Given the description of an element on the screen output the (x, y) to click on. 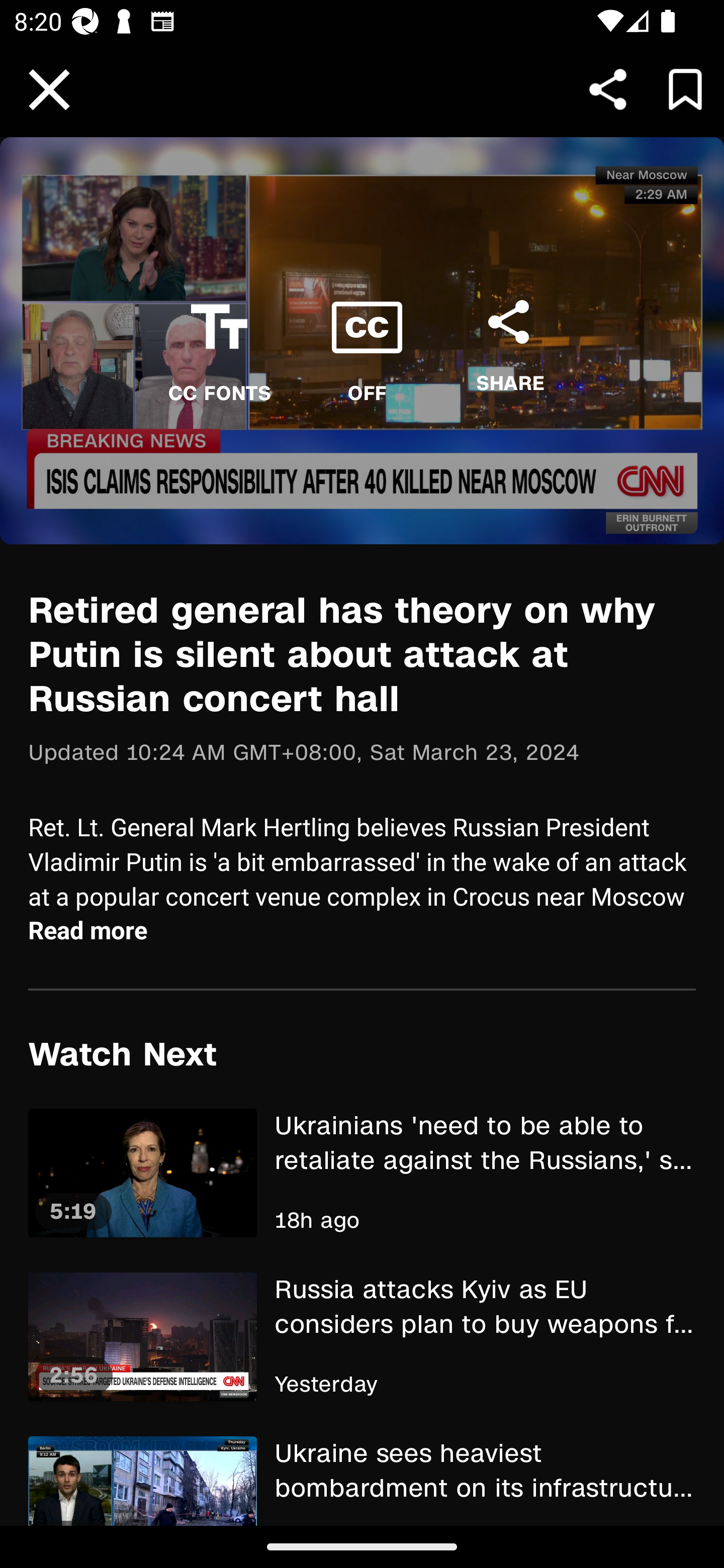
Close (48, 89)
Share (607, 89)
Bookmark (685, 89)
Closed Captions Fonts CC FONTS (219, 340)
Closed Captions Off OFF (366, 340)
SHARE (509, 336)
